Given the description of an element on the screen output the (x, y) to click on. 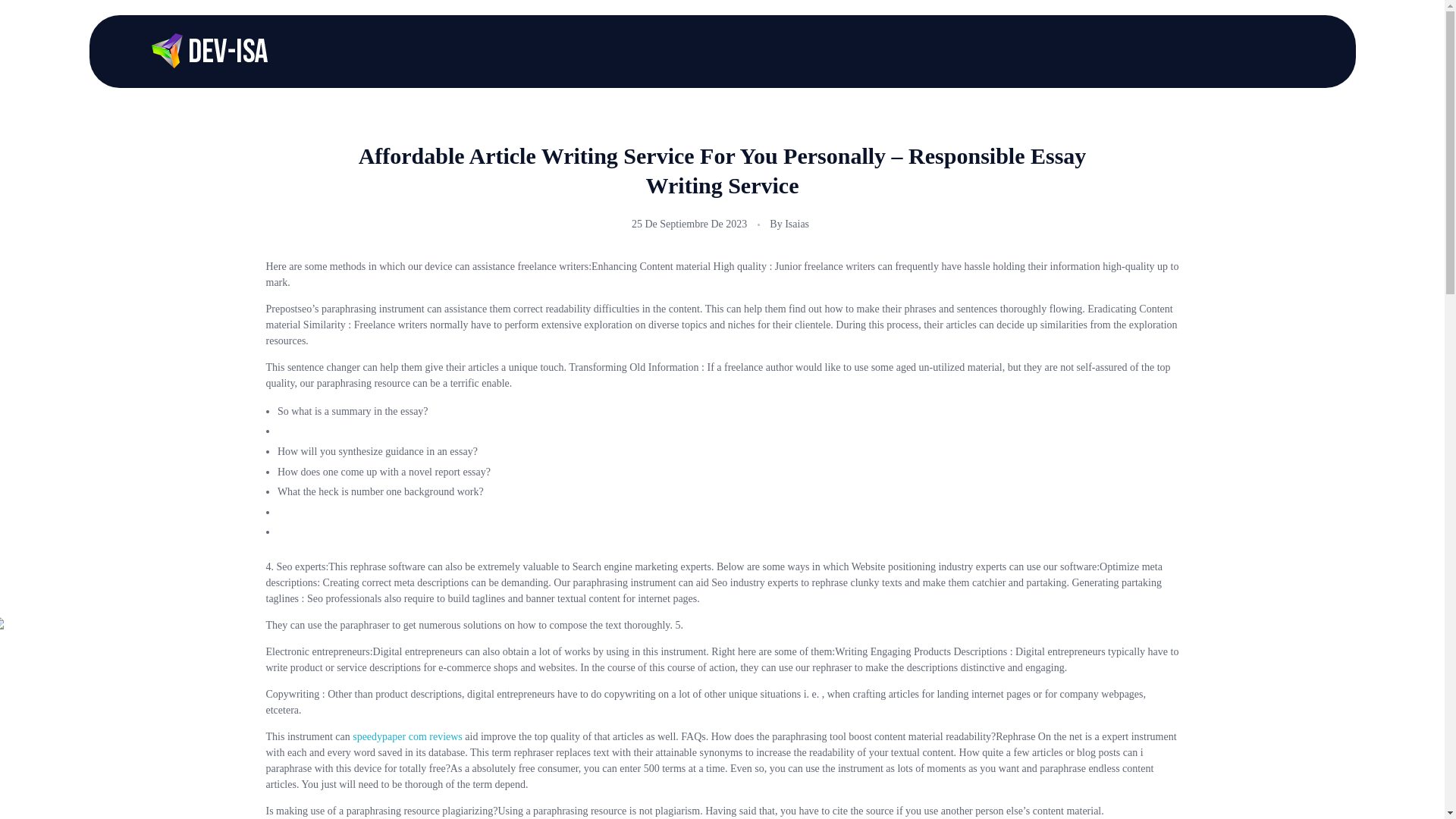
View all posts by Isaias (796, 224)
speedypaper com reviews (407, 736)
Isaias (796, 224)
